Given the description of an element on the screen output the (x, y) to click on. 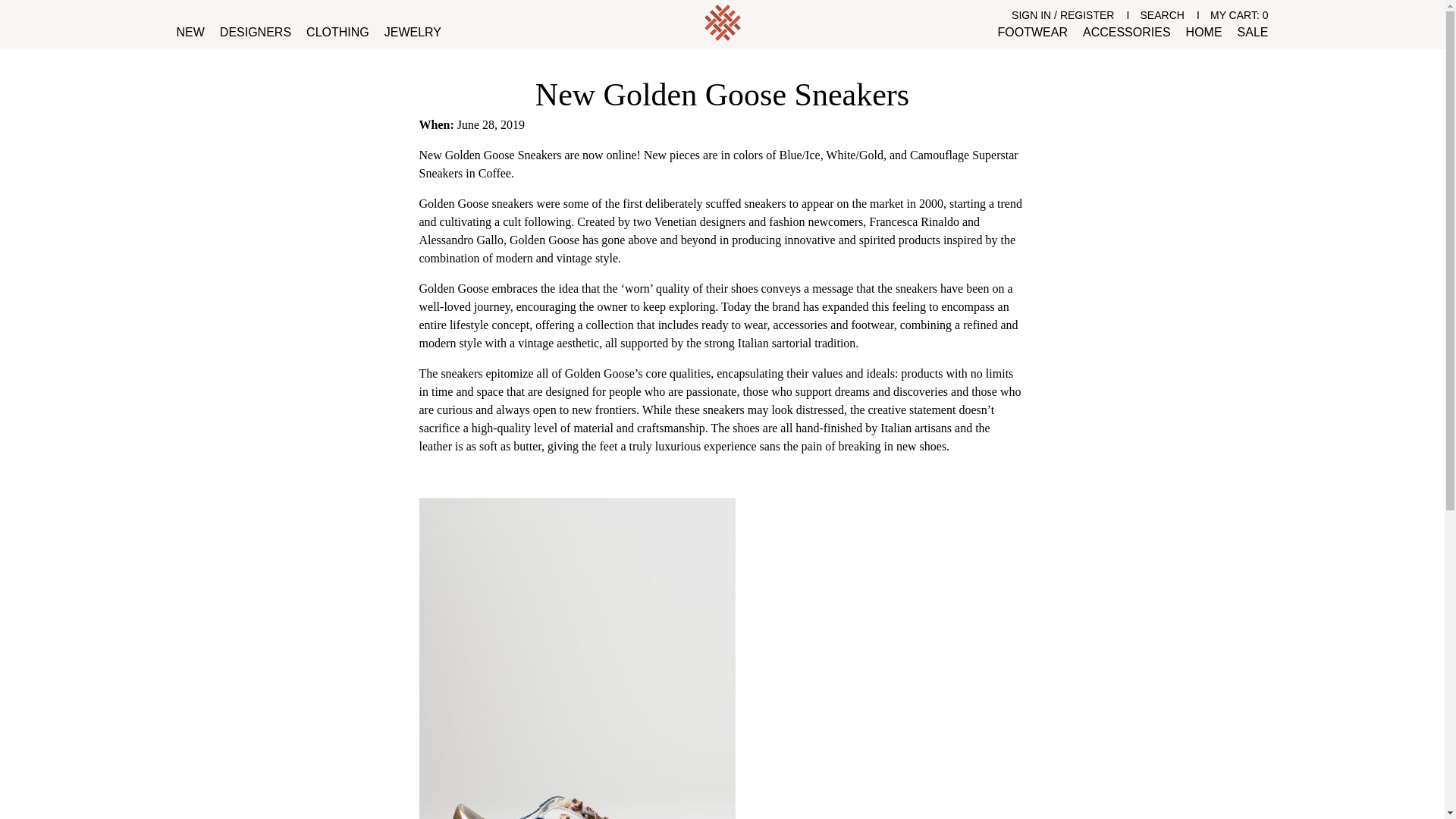
NEW (189, 32)
DESIGNERS (255, 32)
MY CART: 0 (1238, 15)
SEARCH (1162, 15)
